Given the description of an element on the screen output the (x, y) to click on. 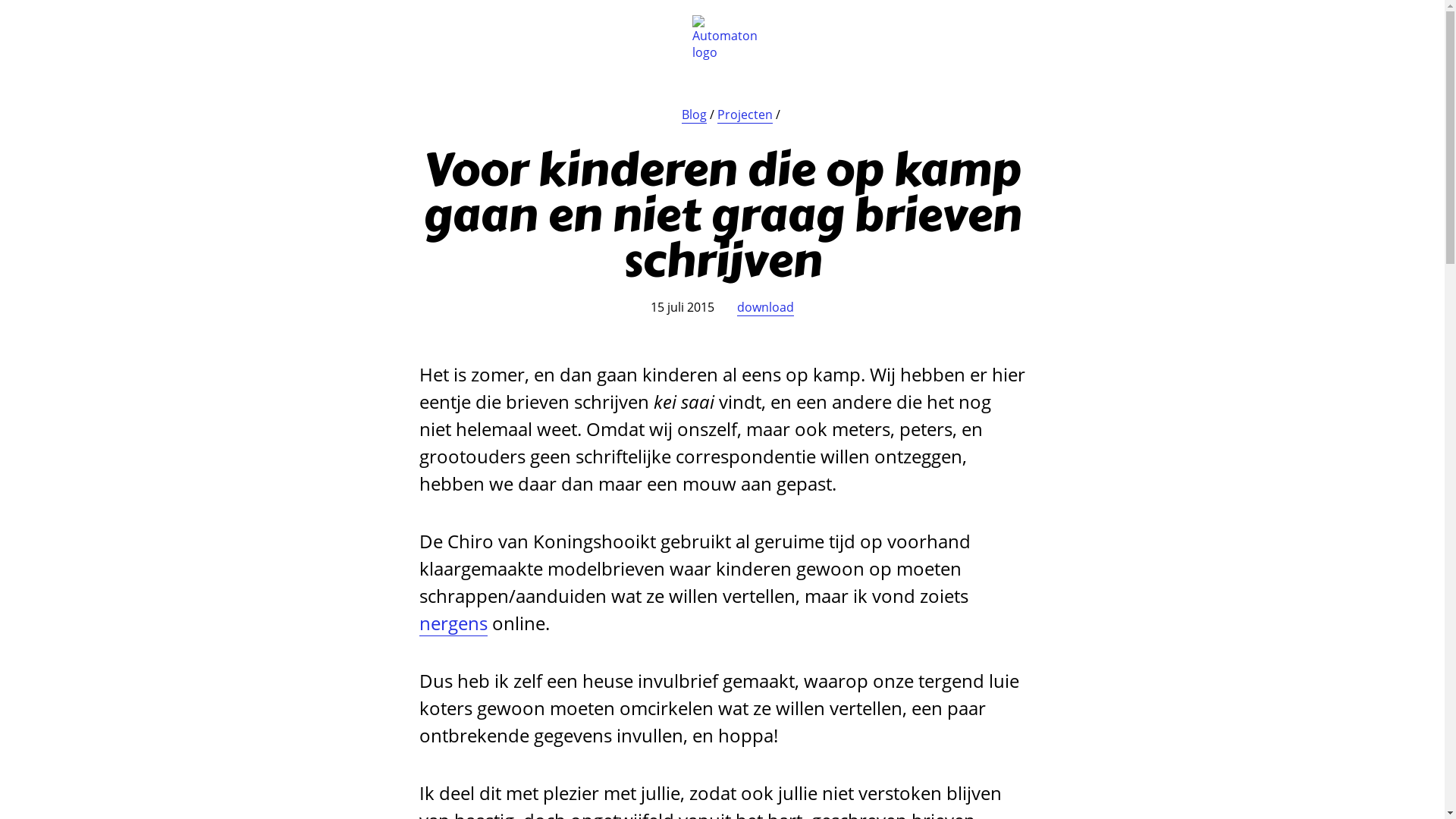
Home Element type: text (26, 18)
Projecten Element type: text (744, 114)
Blog Element type: text (693, 114)
nergens Element type: text (452, 623)
download Element type: text (765, 307)
Snelle links Element type: text (1421, 22)
